Given the description of an element on the screen output the (x, y) to click on. 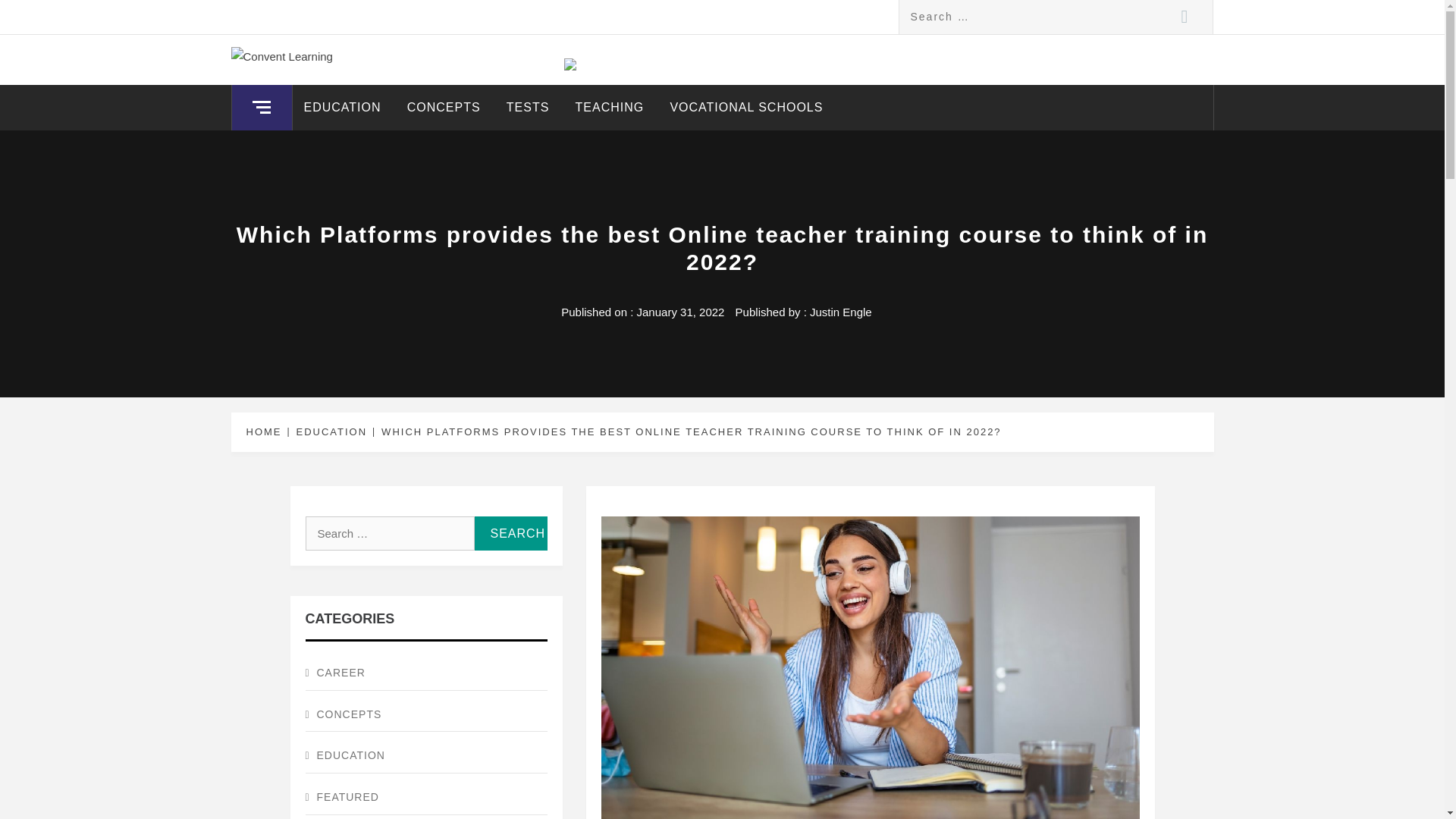
FEATURED (425, 797)
CONCEPTS (425, 715)
Convent Learning (367, 70)
Search (1184, 17)
Search (1184, 17)
TESTS (527, 107)
HOME (266, 431)
Search (510, 533)
Search (1184, 17)
